Given the description of an element on the screen output the (x, y) to click on. 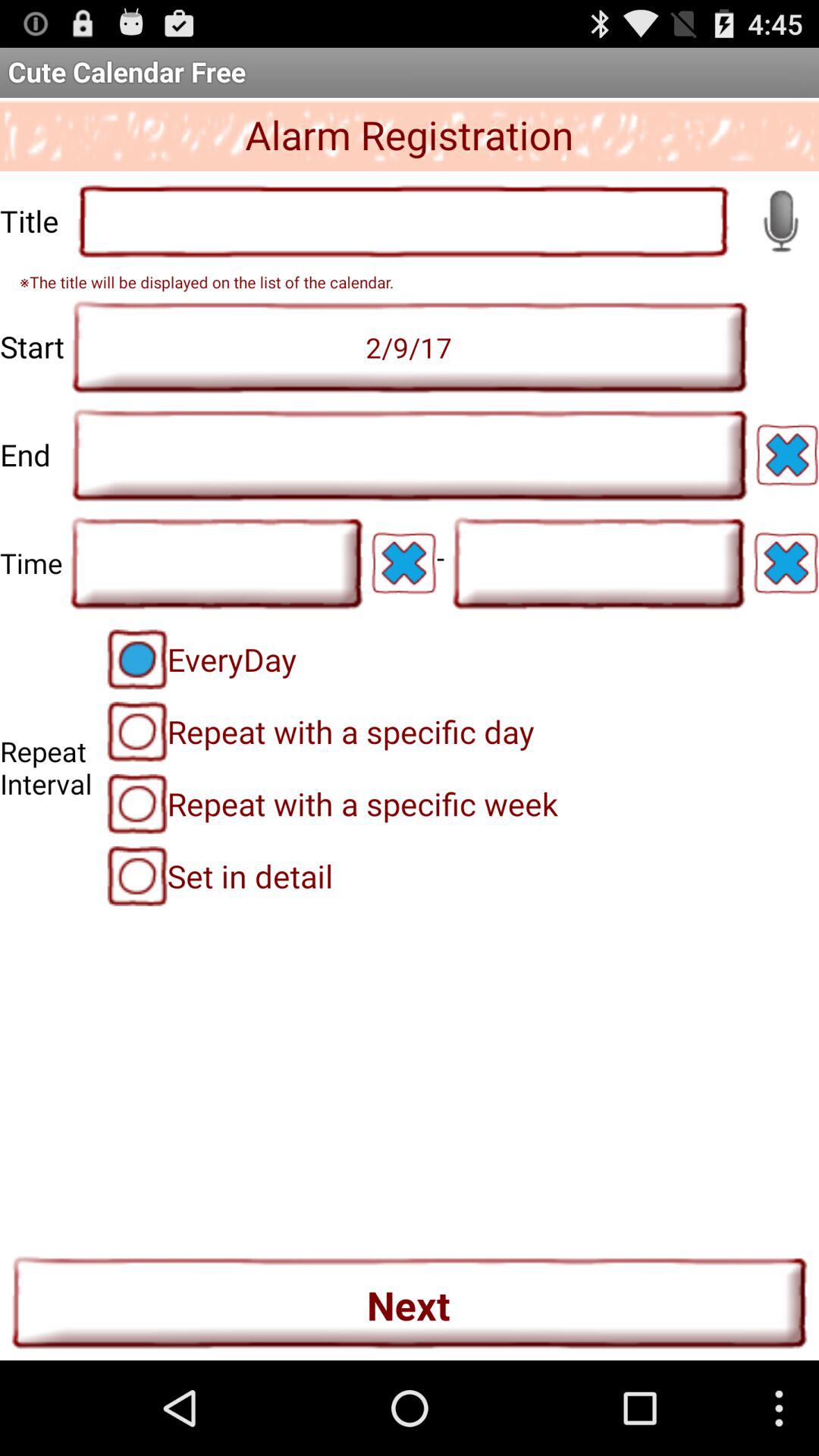
time field for search (598, 562)
